Given the description of an element on the screen output the (x, y) to click on. 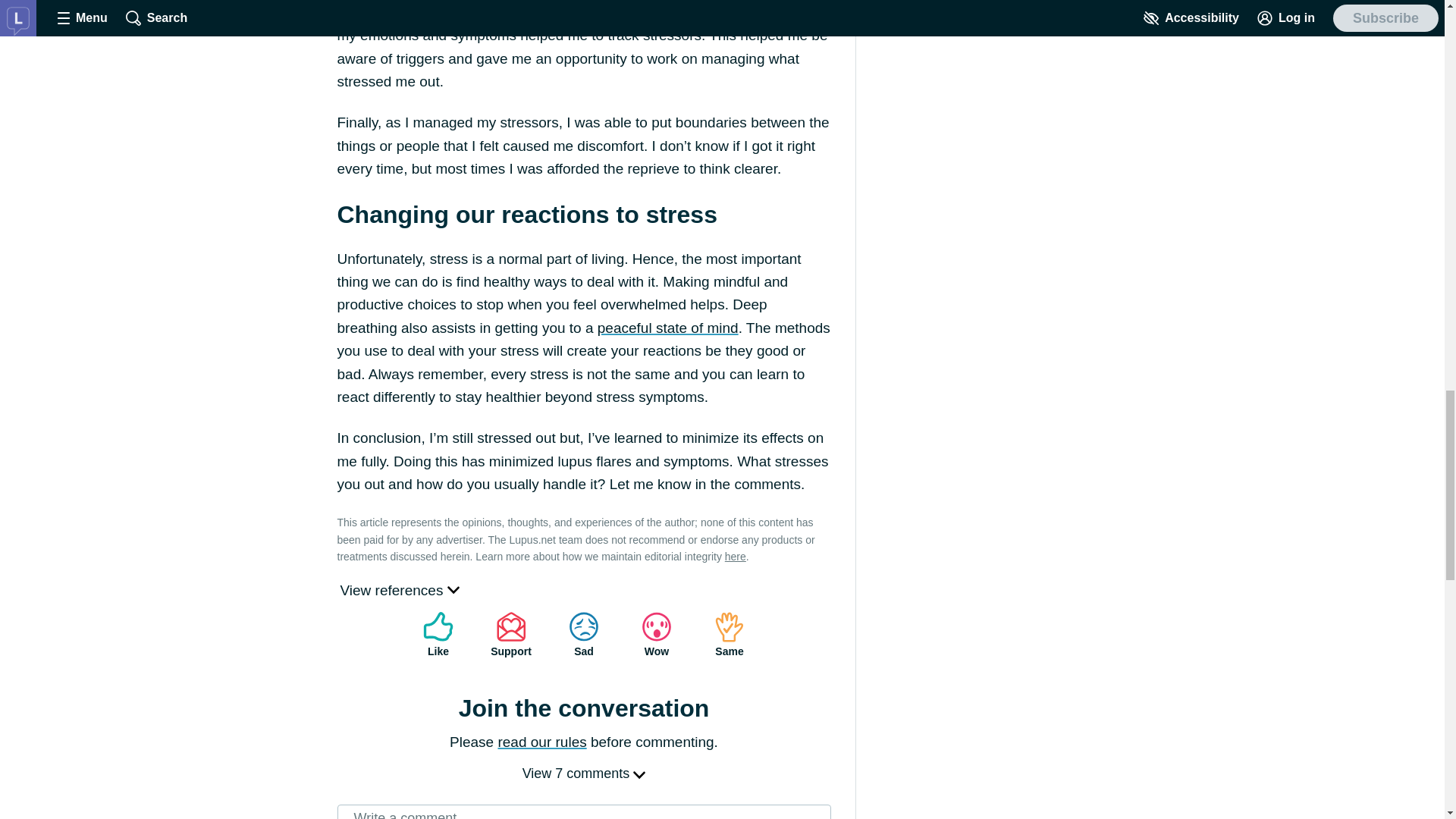
peaceful state of mind (667, 327)
Wow (656, 634)
caret icon (453, 589)
Support (510, 634)
caret icon (639, 774)
Like (437, 634)
View references caret icon (398, 590)
Sad (583, 634)
Same (729, 634)
here (735, 556)
